Given the description of an element on the screen output the (x, y) to click on. 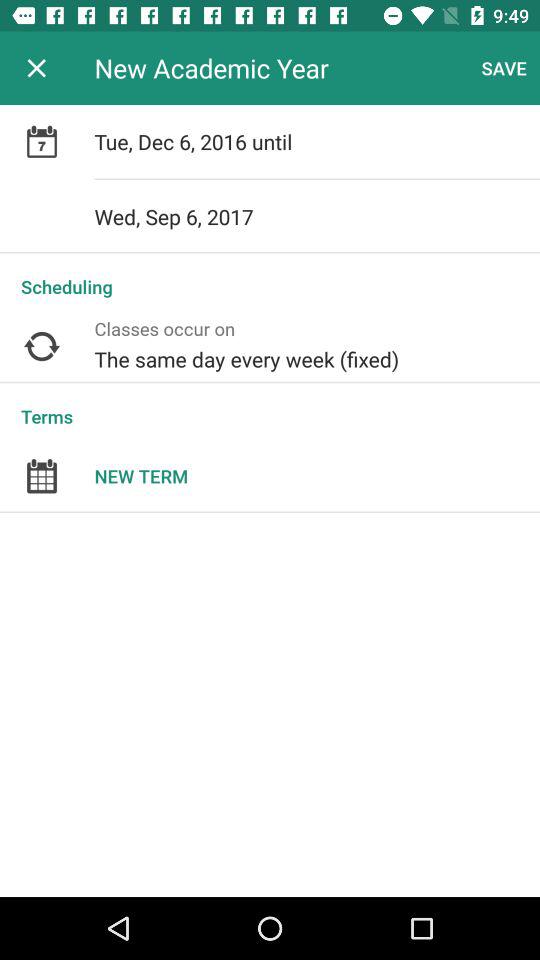
choose the item next to new academic year (36, 68)
